Given the description of an element on the screen output the (x, y) to click on. 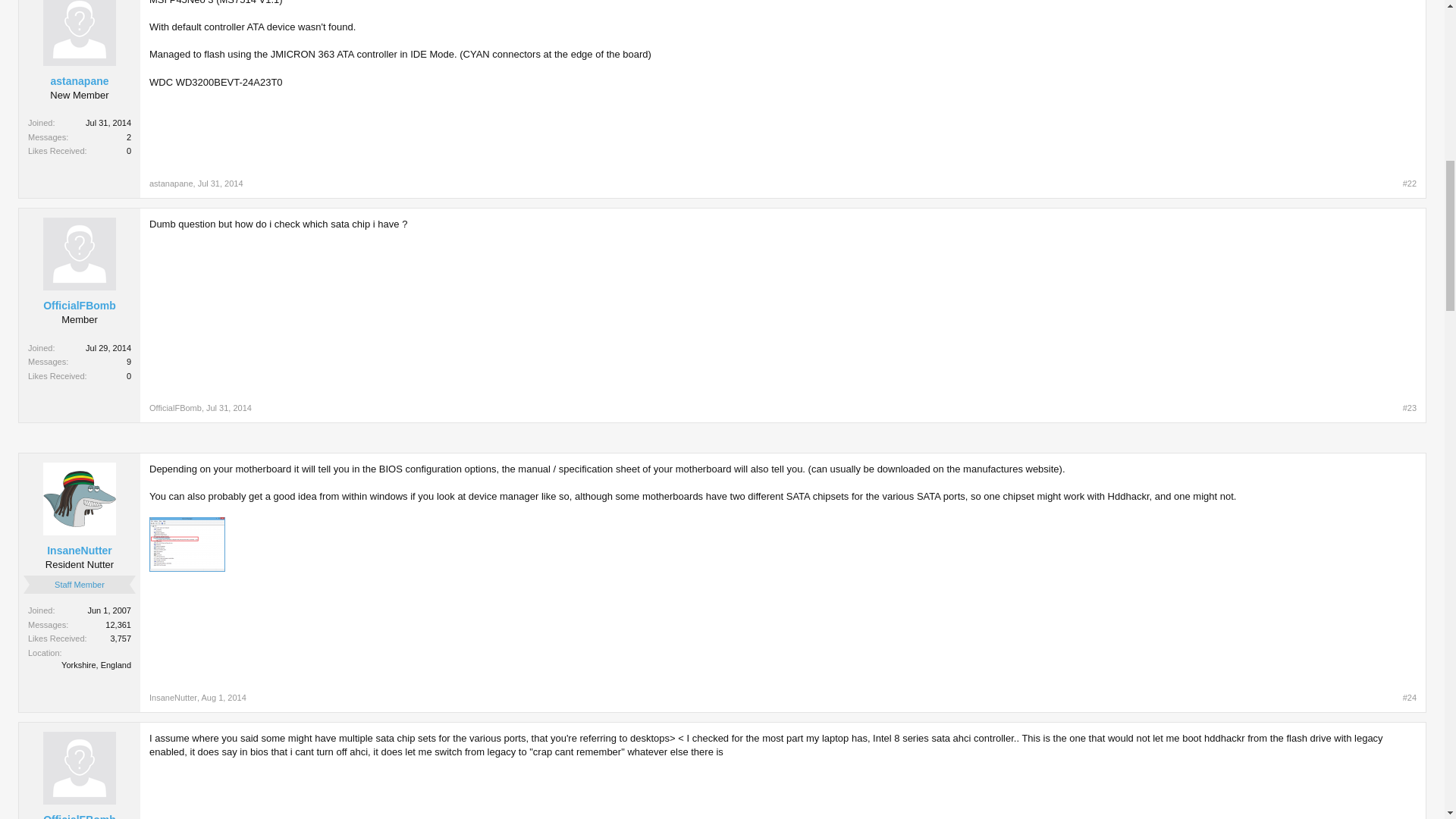
OfficialFBomb (175, 407)
InsaneNutter (79, 550)
Permalink (1409, 697)
Jul 31, 2014 (220, 183)
Yorkshire, England (96, 664)
astanapane (171, 183)
Jul 31, 2014 (228, 407)
Permalink (220, 183)
Permalink (1409, 407)
astanapane (79, 80)
